Given the description of an element on the screen output the (x, y) to click on. 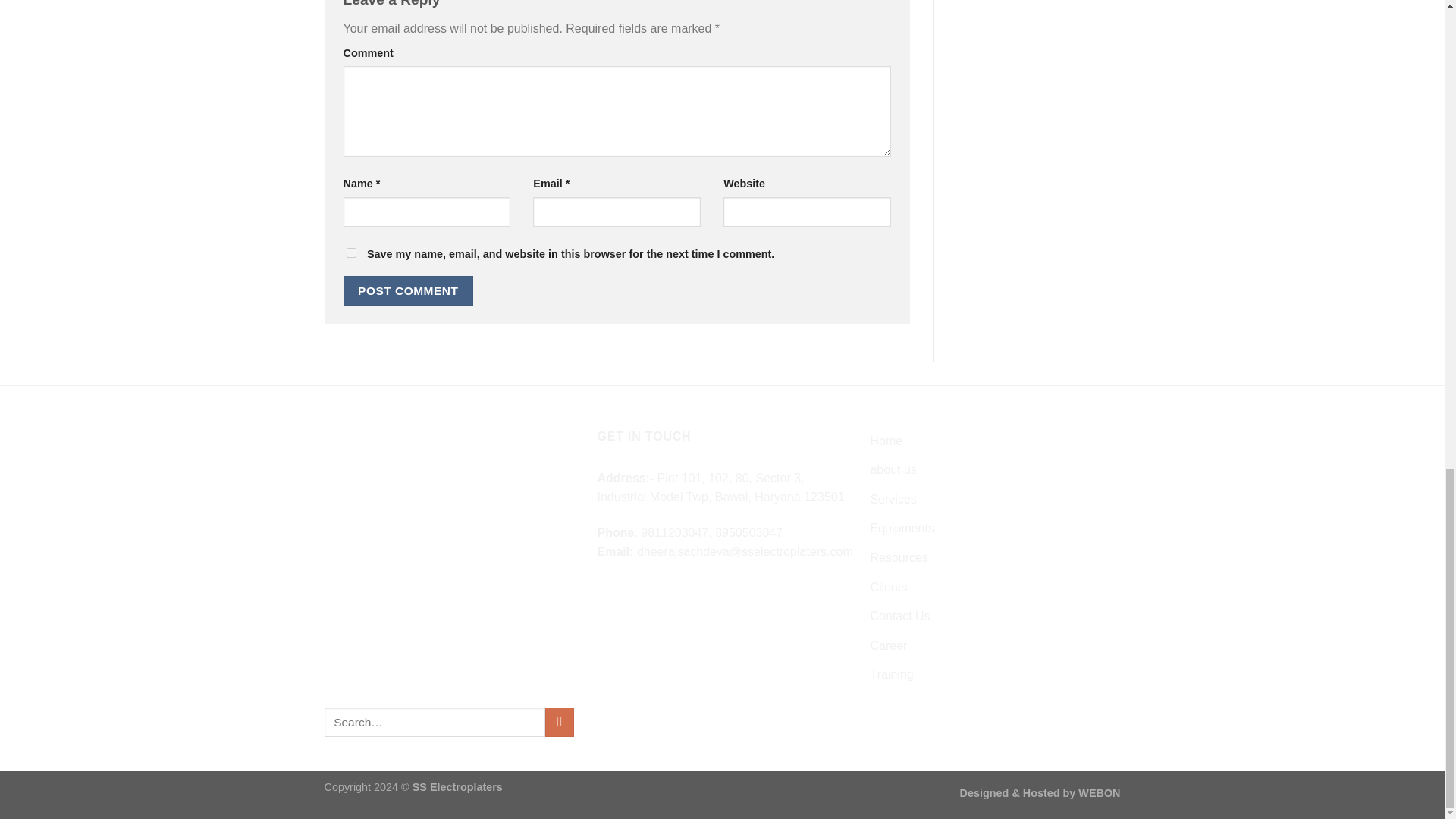
Post Comment (407, 290)
yes (350, 252)
Post Comment (407, 290)
